Given the description of an element on the screen output the (x, y) to click on. 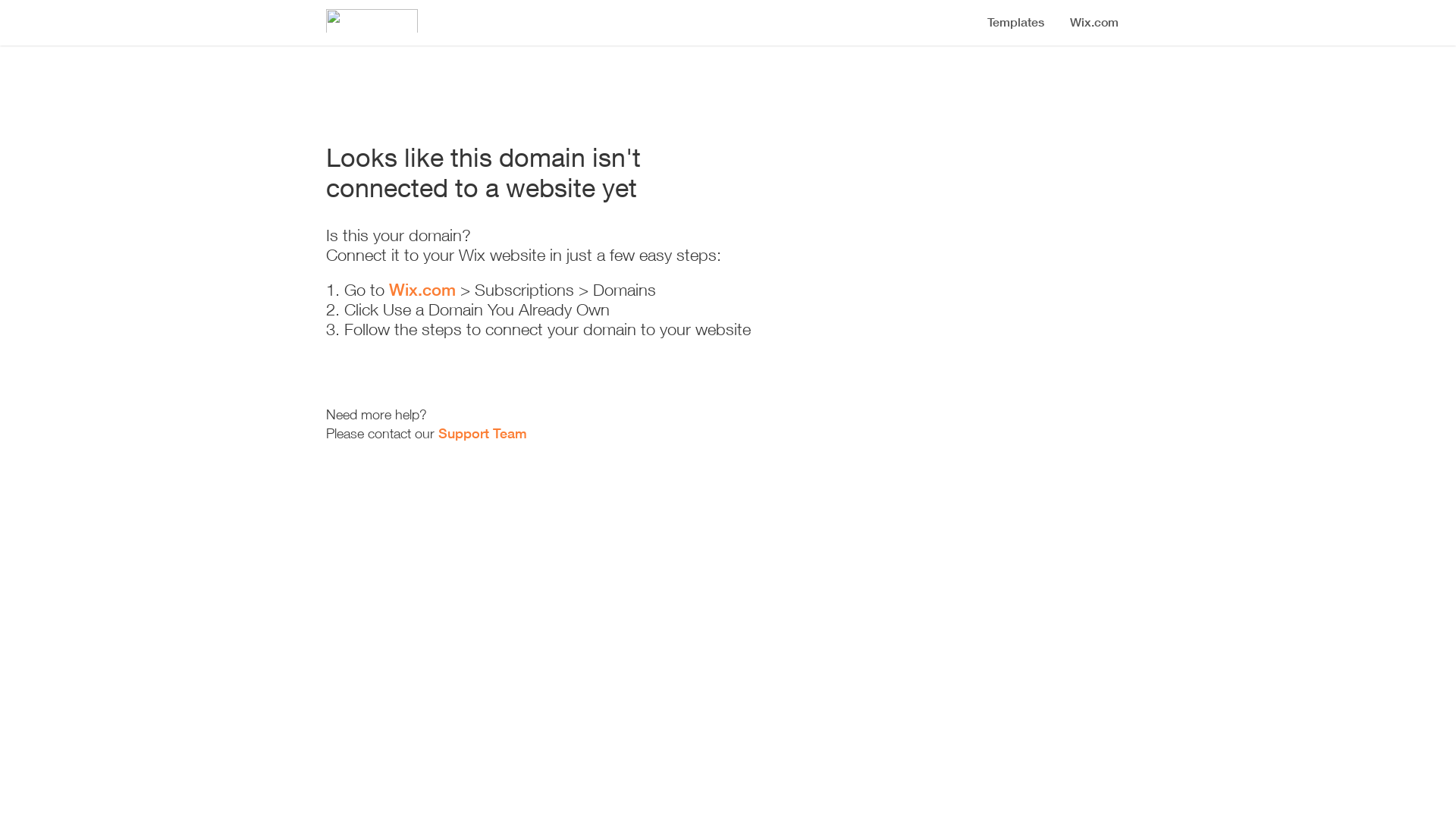
Wix.com Element type: text (422, 289)
Support Team Element type: text (482, 433)
